Given the description of an element on the screen output the (x, y) to click on. 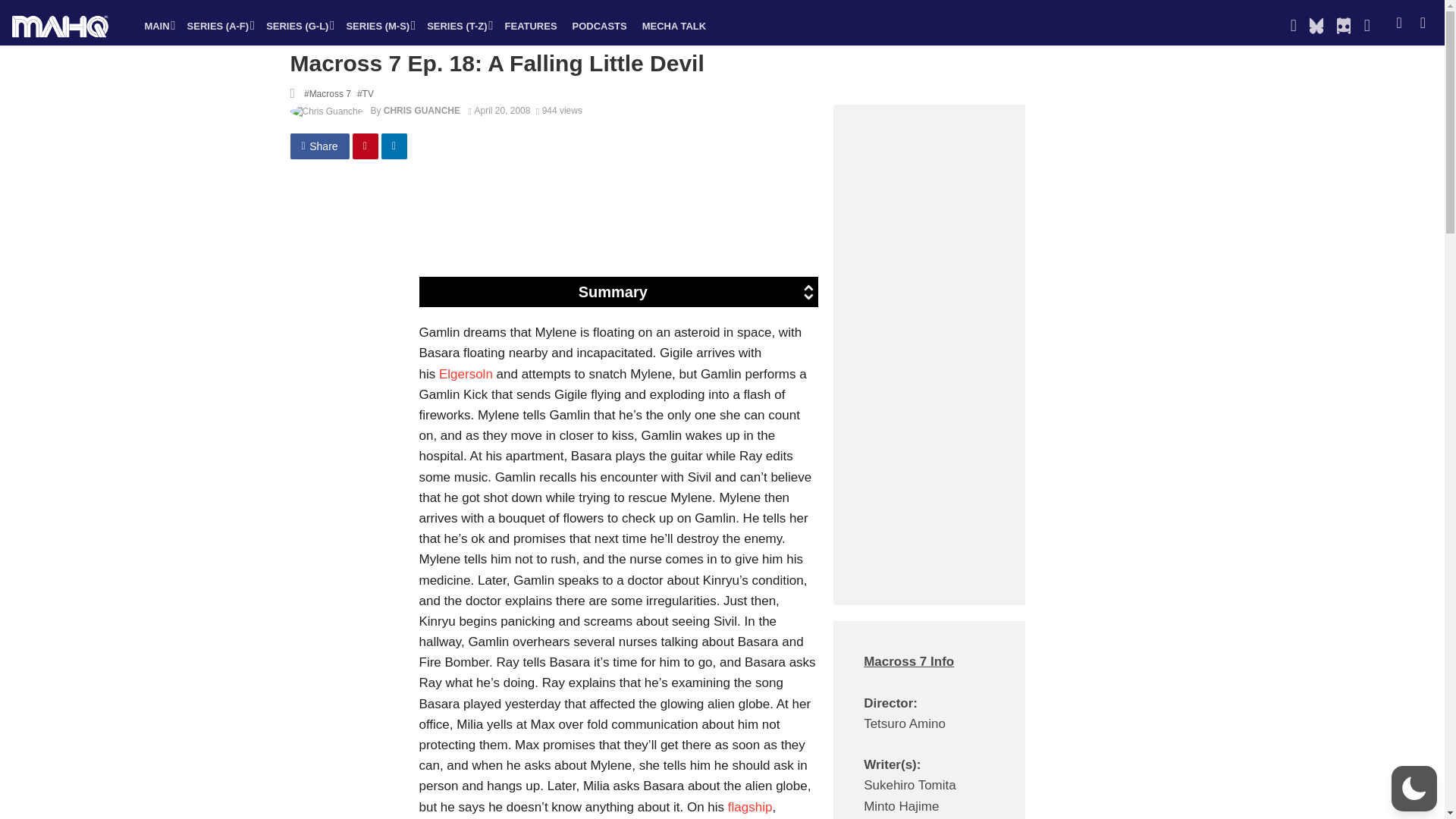
Share on Facebook (319, 145)
Share on Linkedin (394, 145)
April 20, 2008 at 6:54 pm (499, 110)
MAIN (157, 26)
Posts by Chris Guanche (422, 110)
Share on Pinterest (365, 145)
Advertisement (686, 223)
